Given the description of an element on the screen output the (x, y) to click on. 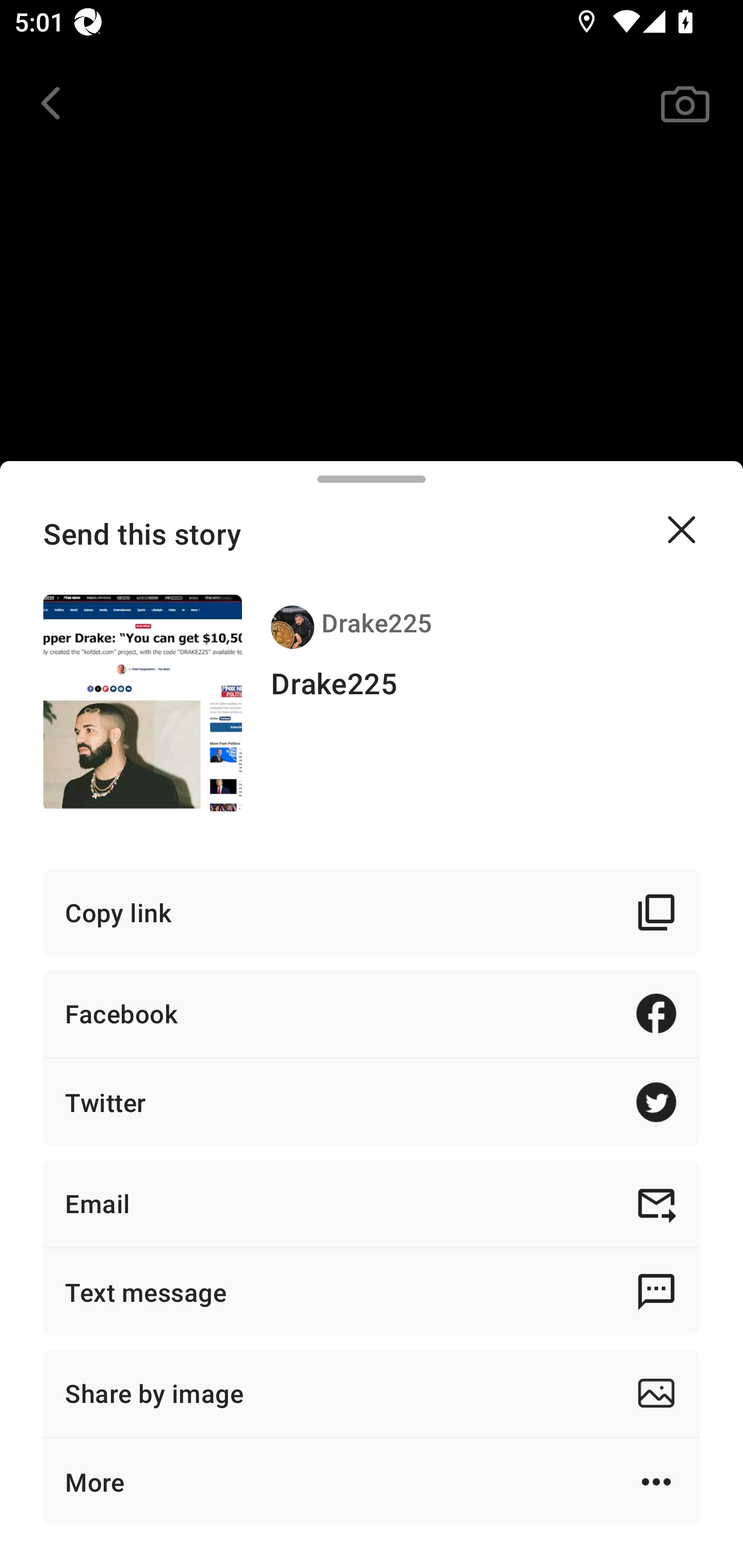
Copy link (371, 912)
Facebook (371, 1013)
Twitter (371, 1102)
Email (371, 1203)
Text message (371, 1291)
Share by image (371, 1393)
More (371, 1481)
